Given the description of an element on the screen output the (x, y) to click on. 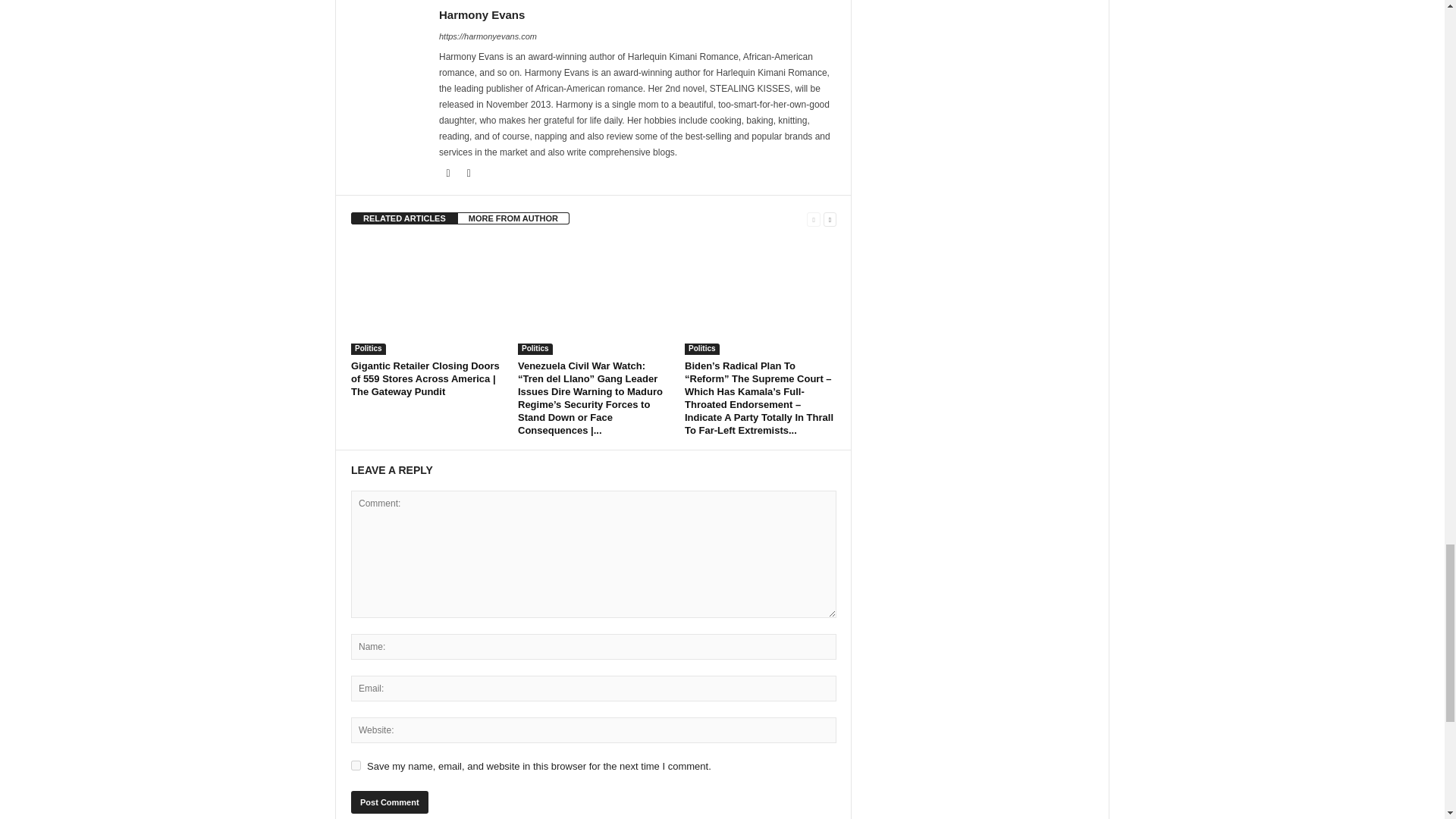
Post Comment (389, 802)
yes (355, 765)
